Given the description of an element on the screen output the (x, y) to click on. 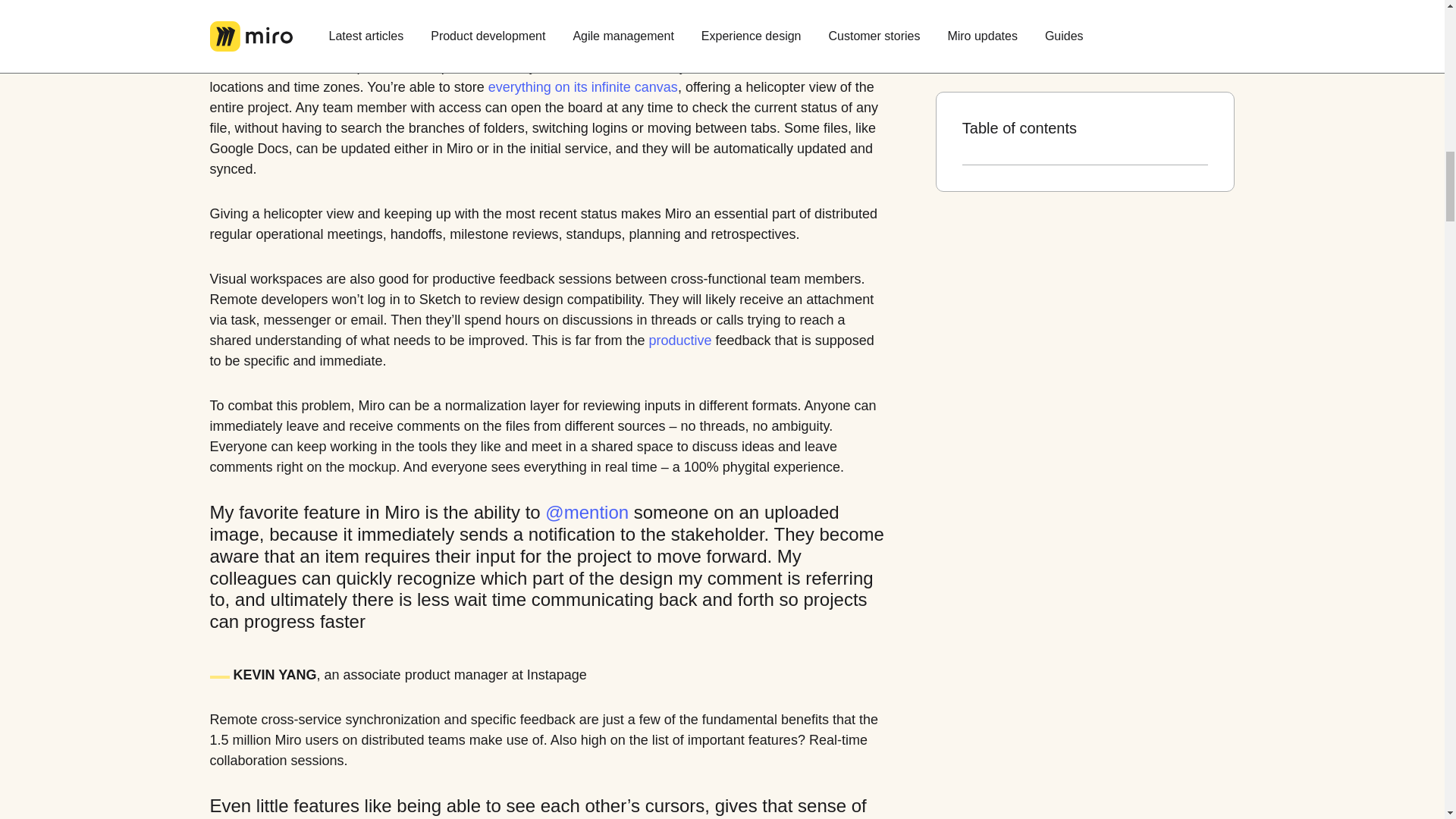
everything on its infinite canvas (582, 86)
productive (680, 340)
